Given the description of an element on the screen output the (x, y) to click on. 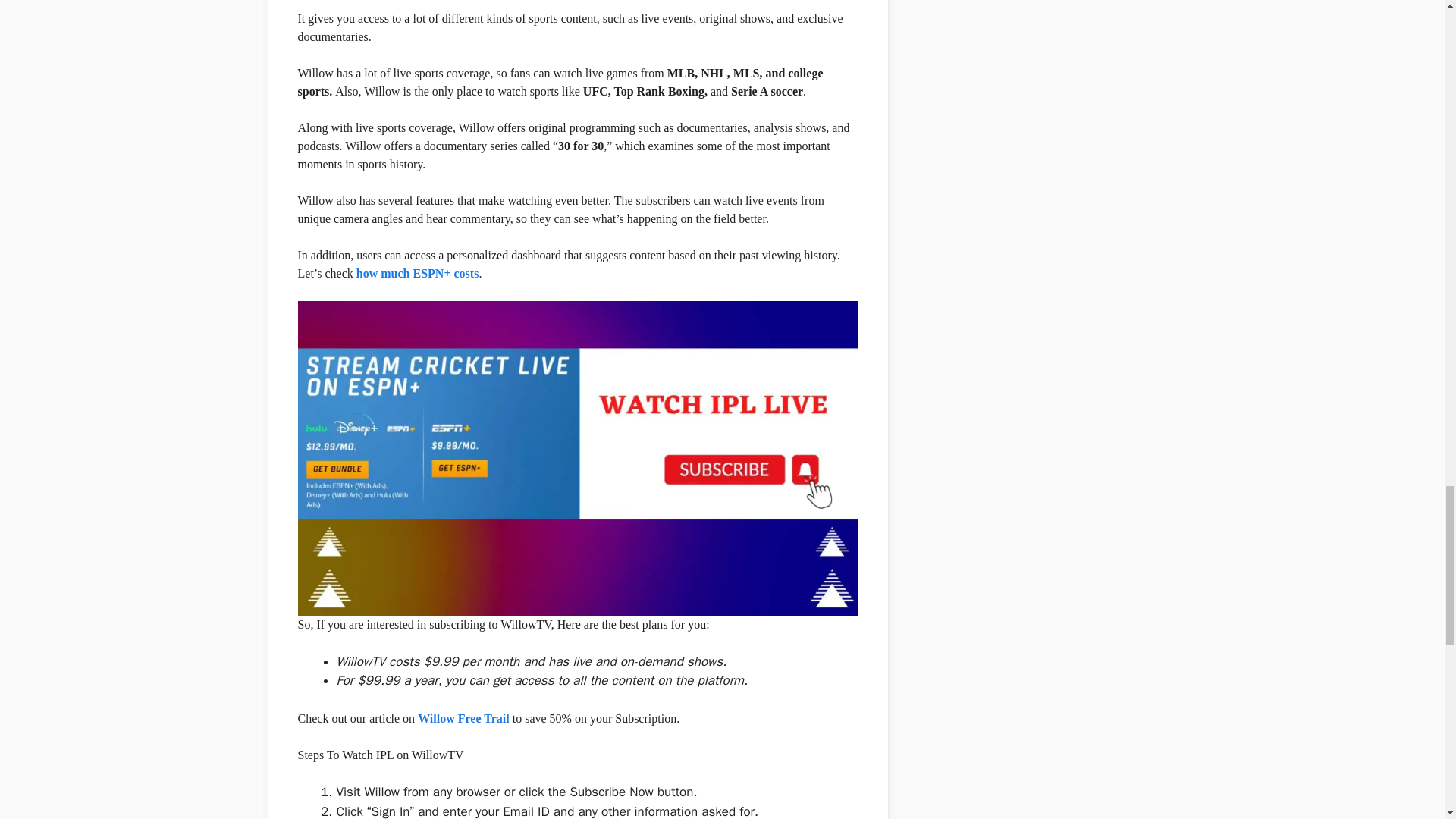
Willow Free Trail (463, 717)
